Given the description of an element on the screen output the (x, y) to click on. 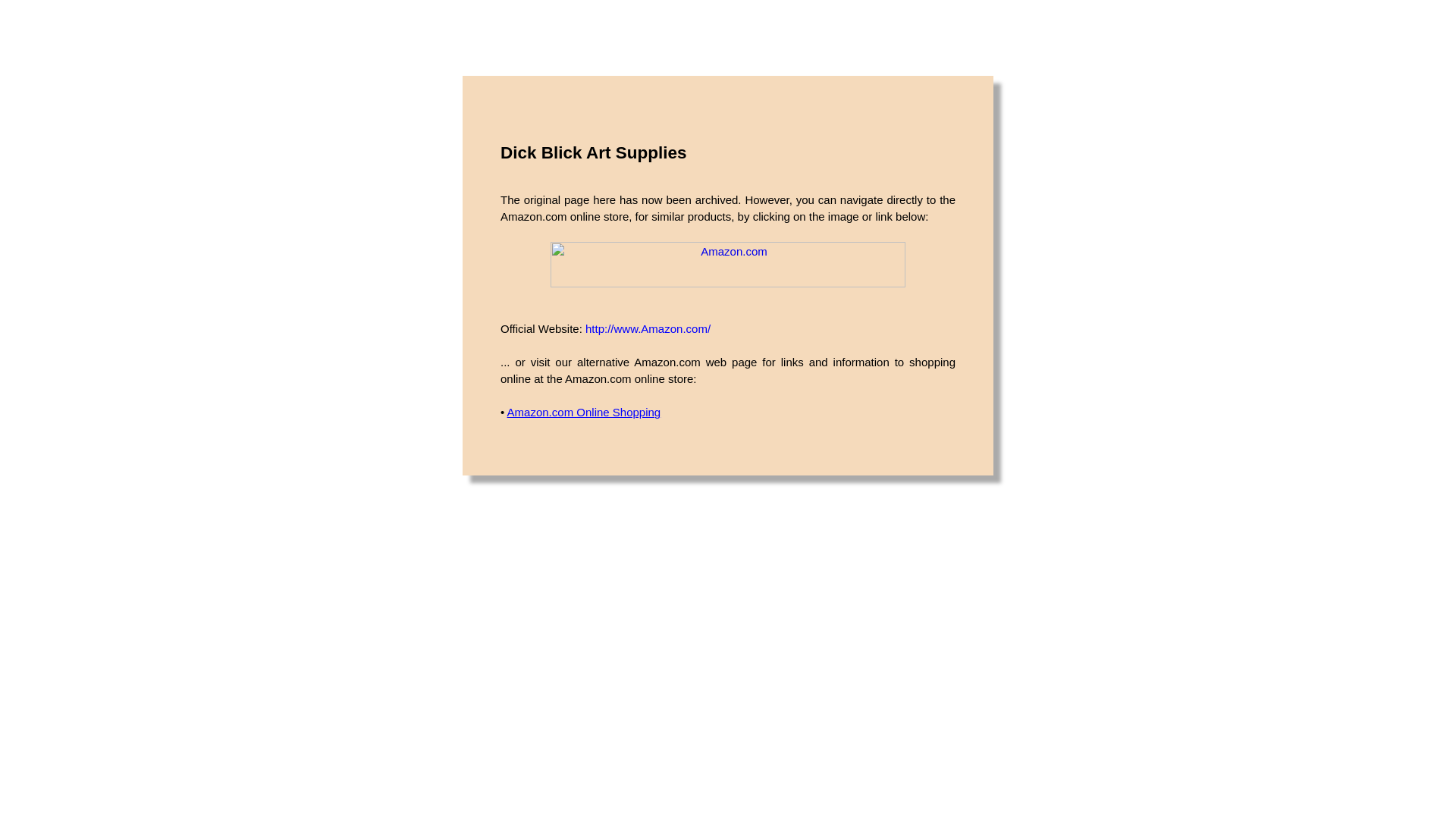
Amazon.com Online Shopping (583, 411)
Amazon.com (727, 264)
